Given the description of an element on the screen output the (x, y) to click on. 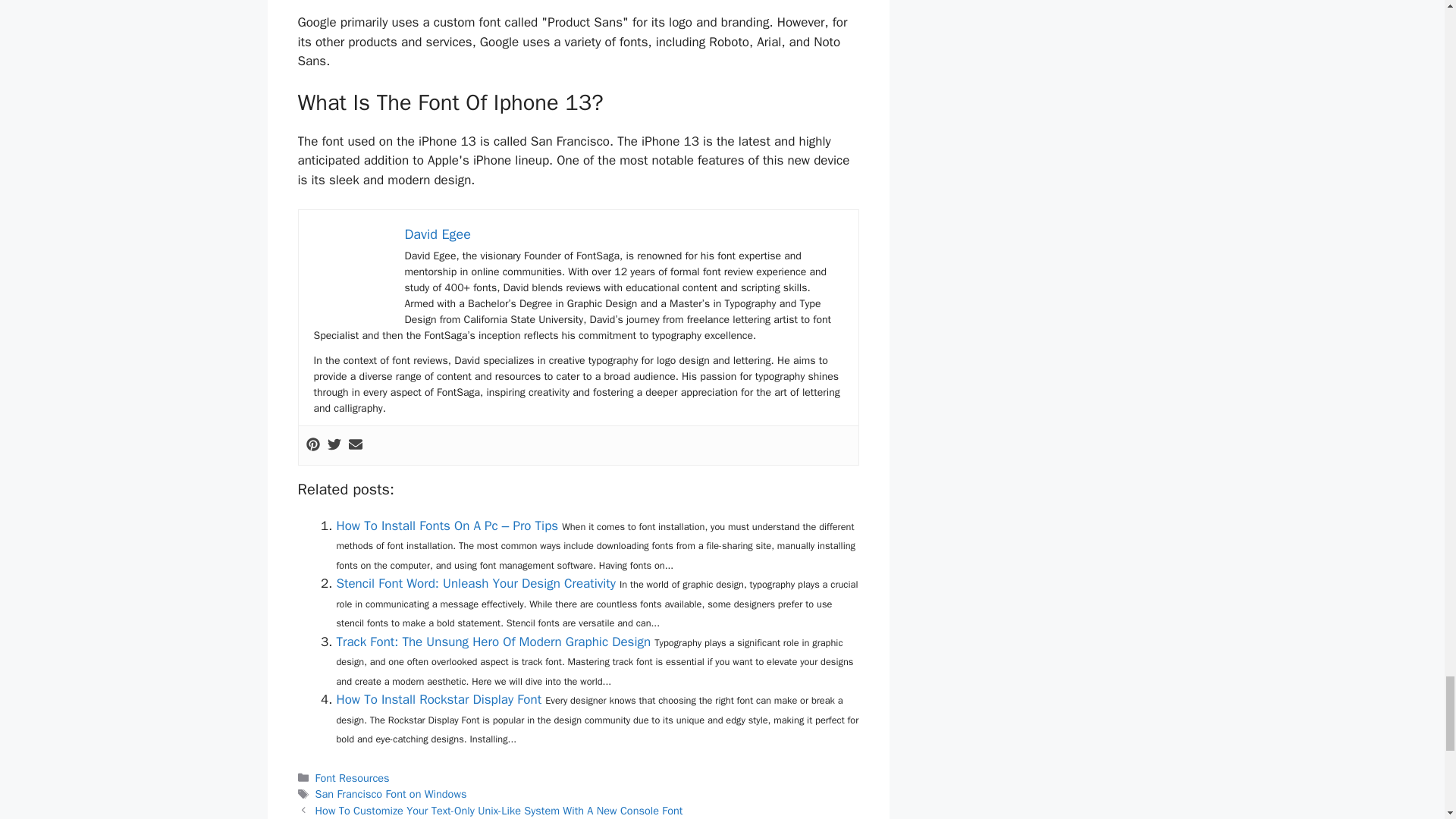
David Egee (437, 234)
